Given the description of an element on the screen output the (x, y) to click on. 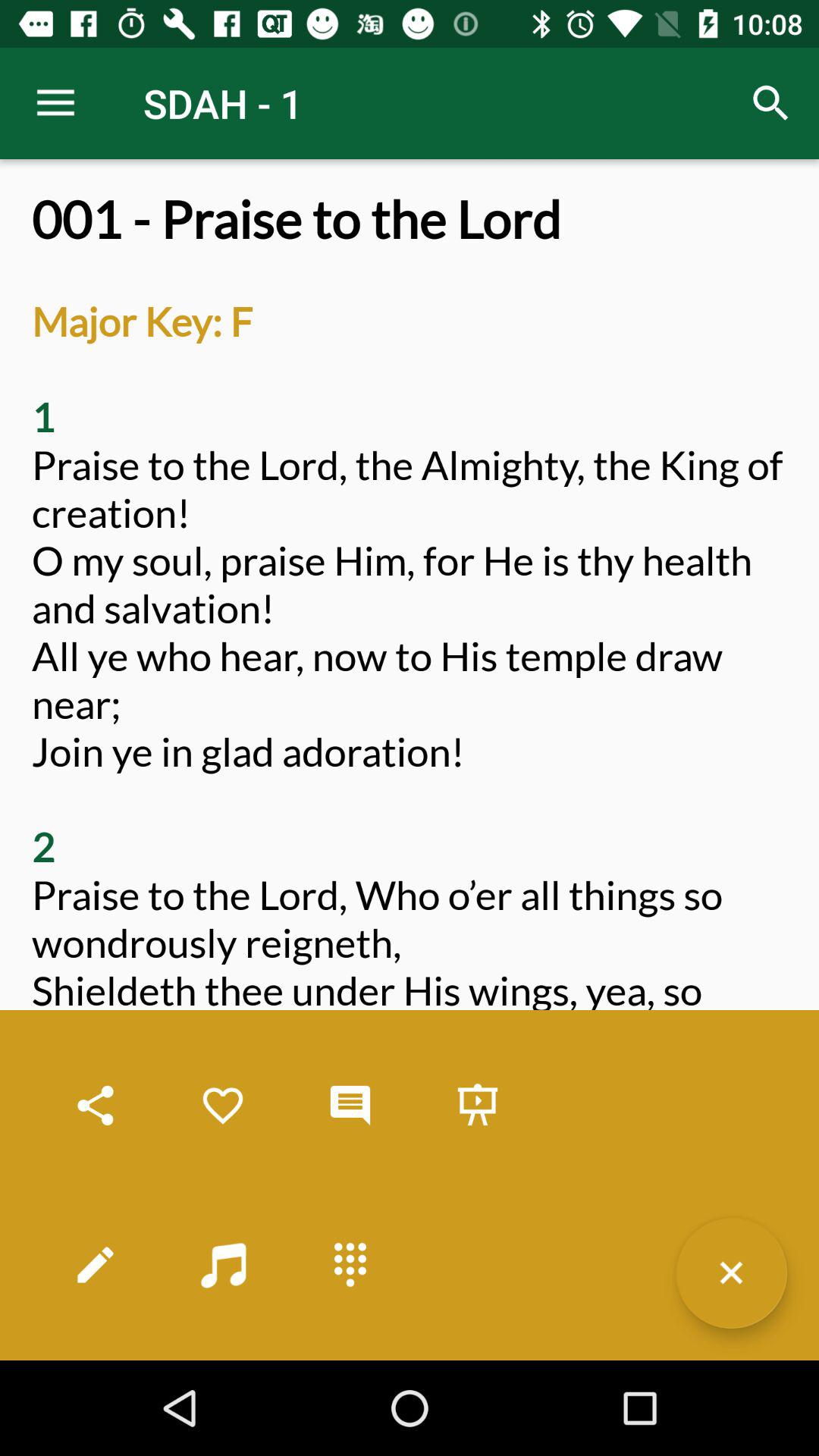
main menu (350, 1264)
